Given the description of an element on the screen output the (x, y) to click on. 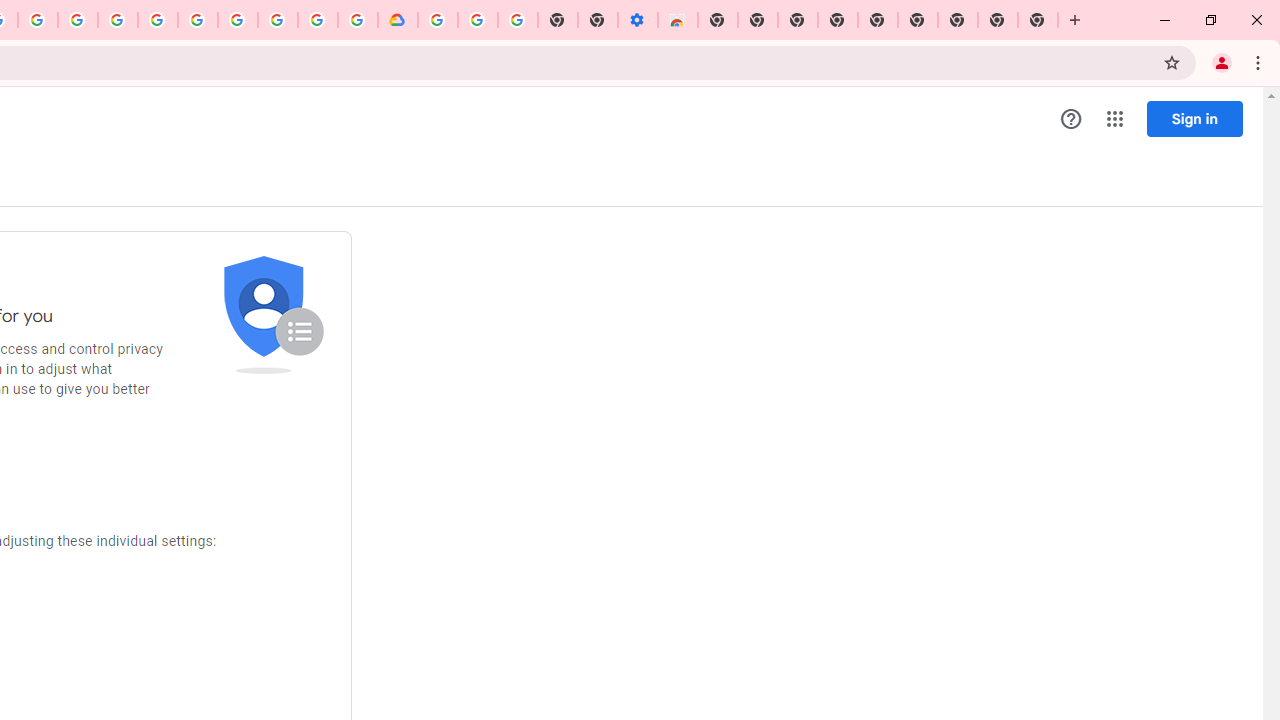
Turn cookies on or off - Computer - Google Account Help (517, 20)
Sign in - Google Accounts (157, 20)
New Tab (1037, 20)
Sign in - Google Accounts (438, 20)
Chrome Web Store - Accessibility extensions (677, 20)
Browse the Google Chrome Community - Google Chrome Community (357, 20)
Google Account Help (237, 20)
